Given the description of an element on the screen output the (x, y) to click on. 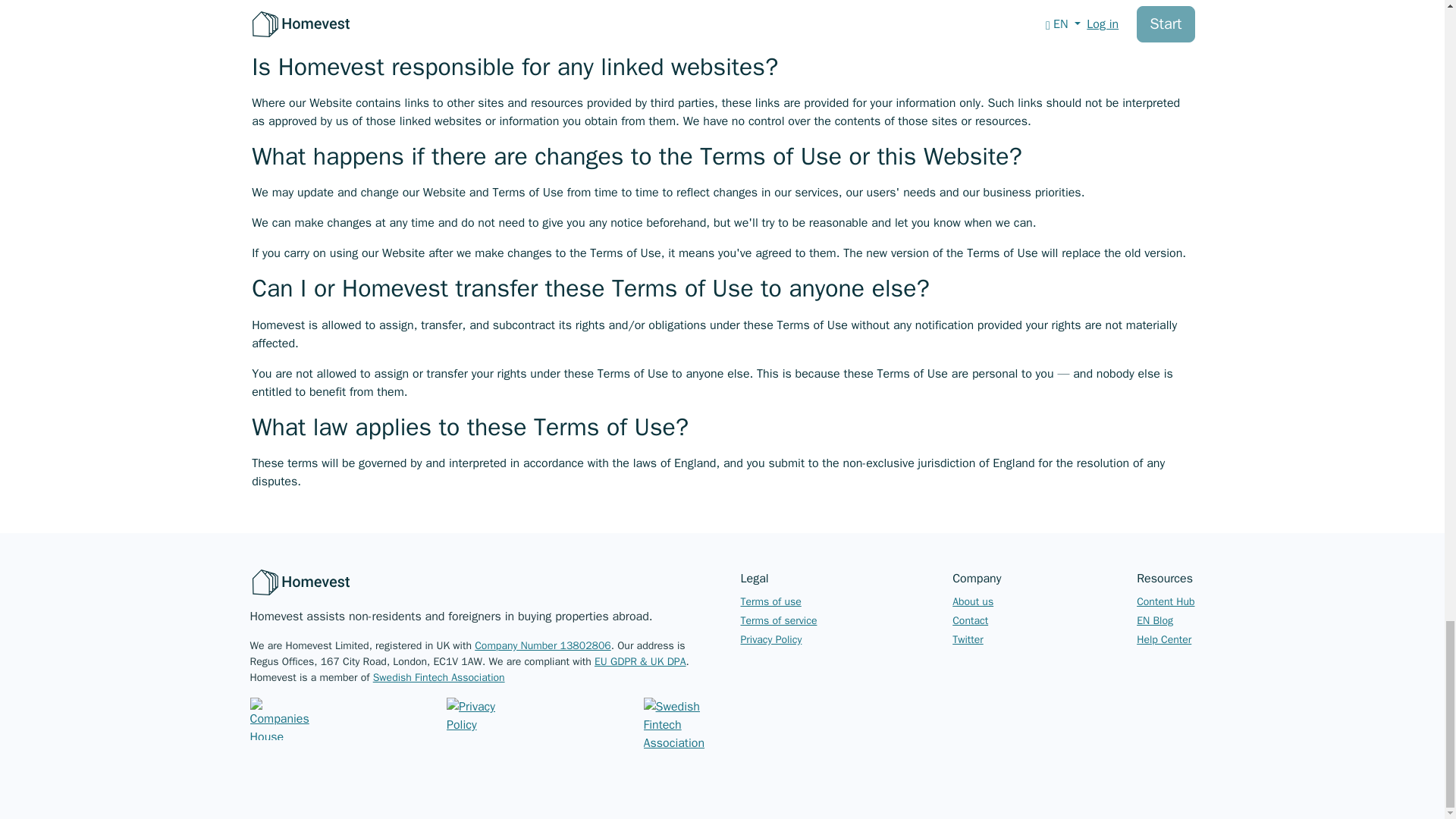
About us (972, 601)
Help Center (1164, 639)
EN Blog (1155, 620)
Company Number 13802806 (542, 645)
Privacy Policy (770, 639)
Terms of use (769, 601)
Contact (970, 620)
Terms of service (777, 620)
Twitter (968, 639)
Swedish Fintech Association (438, 676)
